Given the description of an element on the screen output the (x, y) to click on. 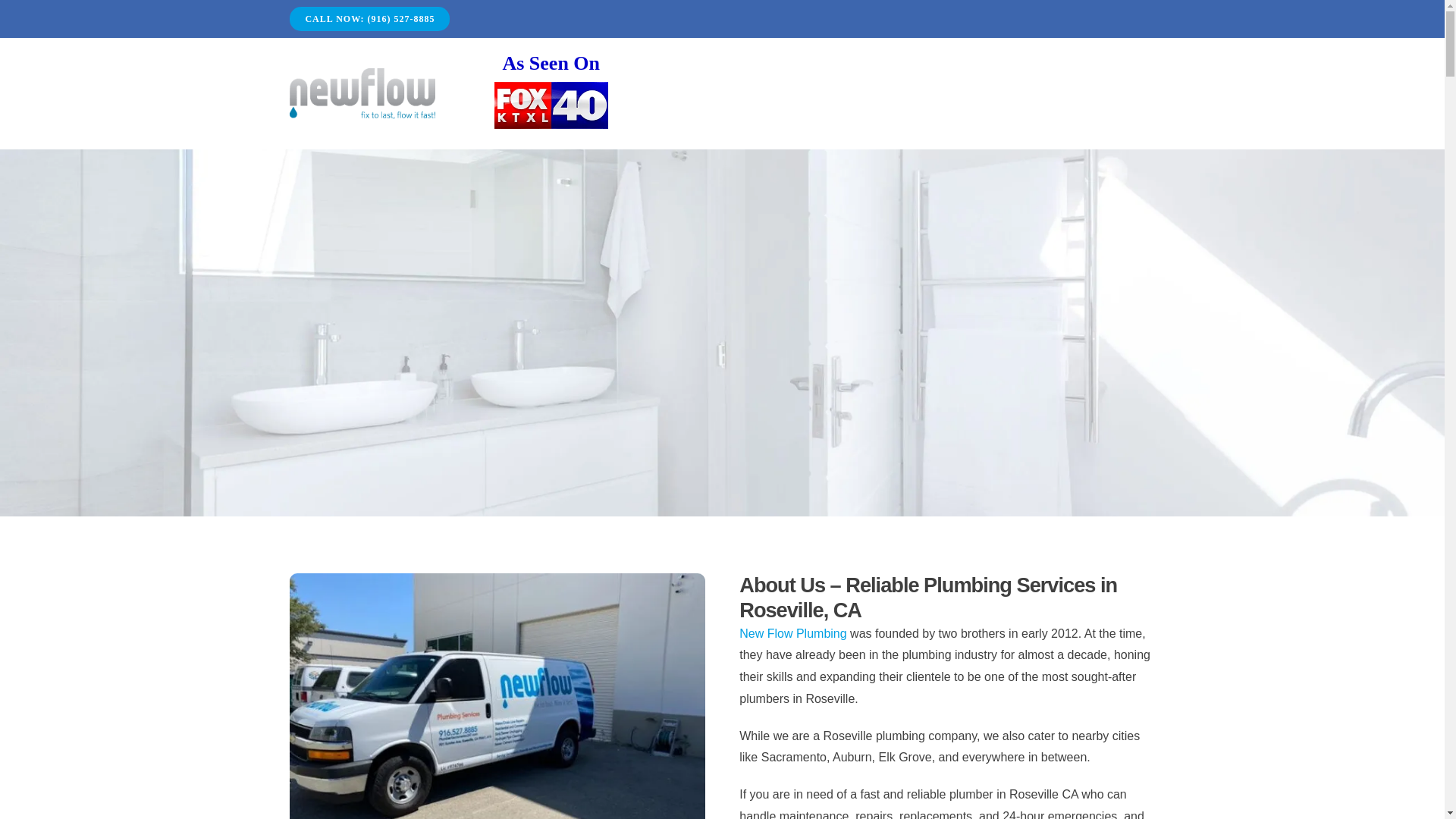
As Seen On (550, 62)
New Flow Plumbing (496, 696)
